Given the description of an element on the screen output the (x, y) to click on. 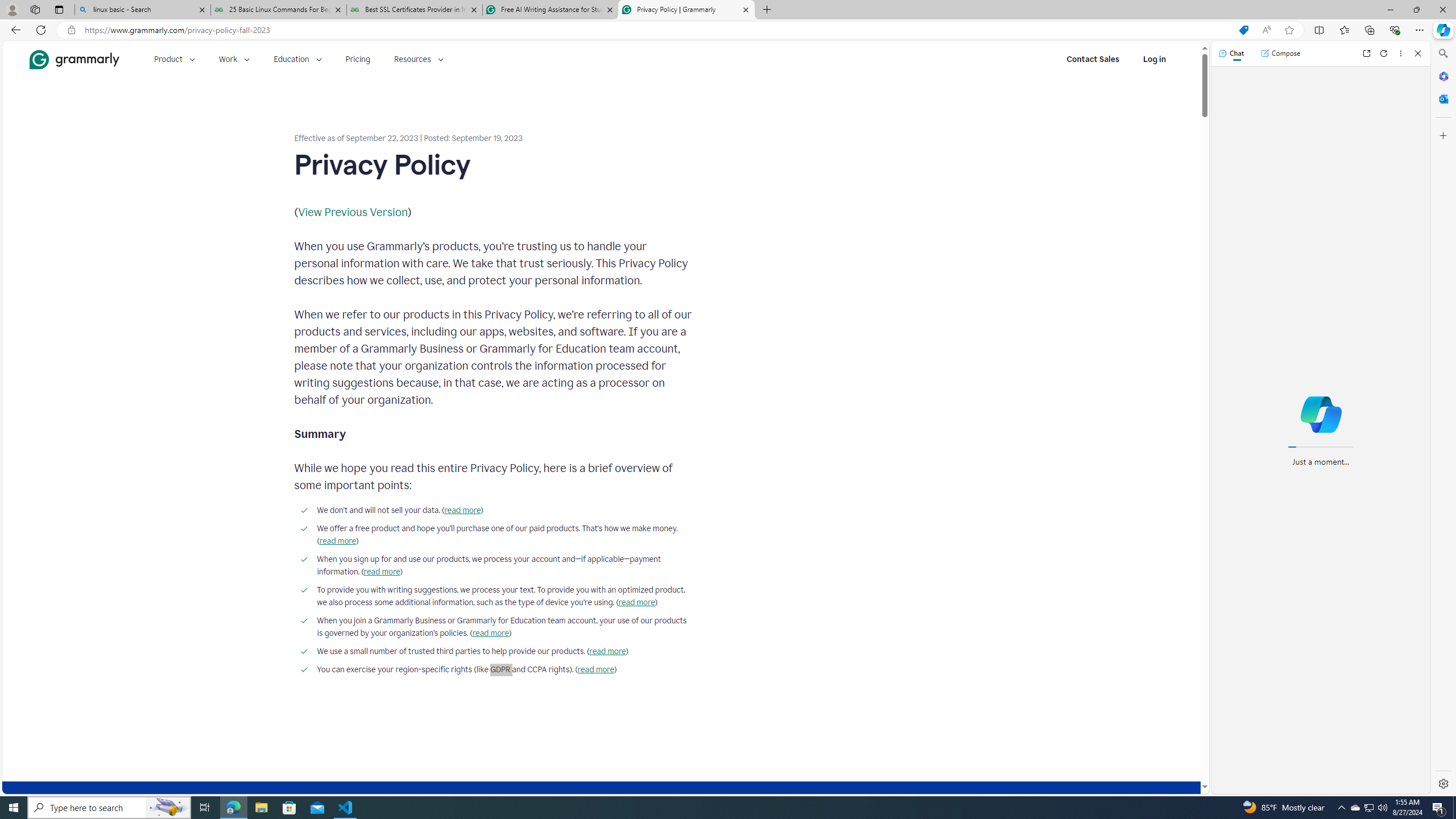
Compose (1280, 52)
linux basic - Search (142, 9)
Education (297, 58)
Resources (419, 58)
Privacy Policy | Grammarly (685, 9)
